Given the description of an element on the screen output the (x, y) to click on. 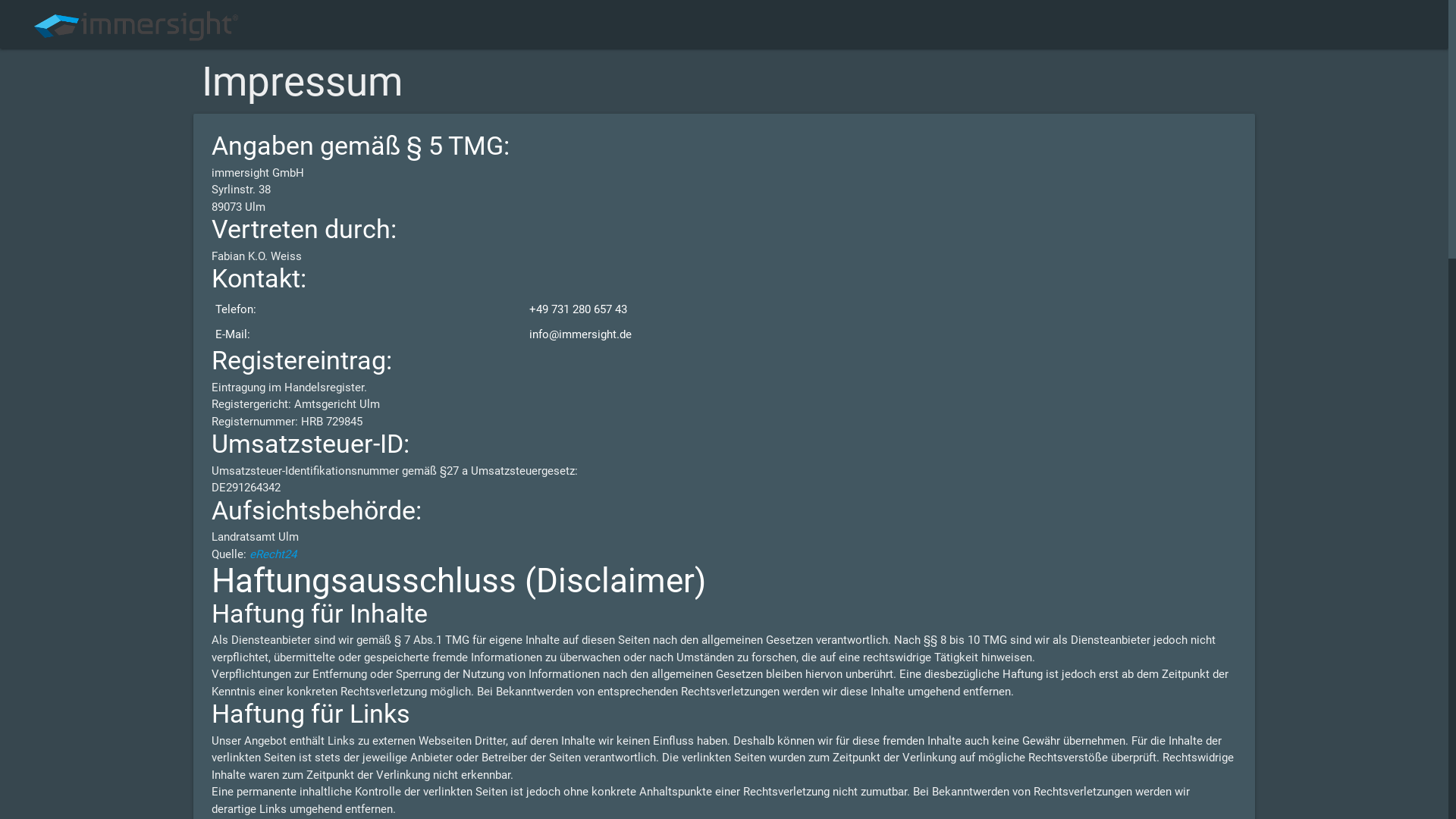
eRecht24 Element type: text (272, 554)
